Given the description of an element on the screen output the (x, y) to click on. 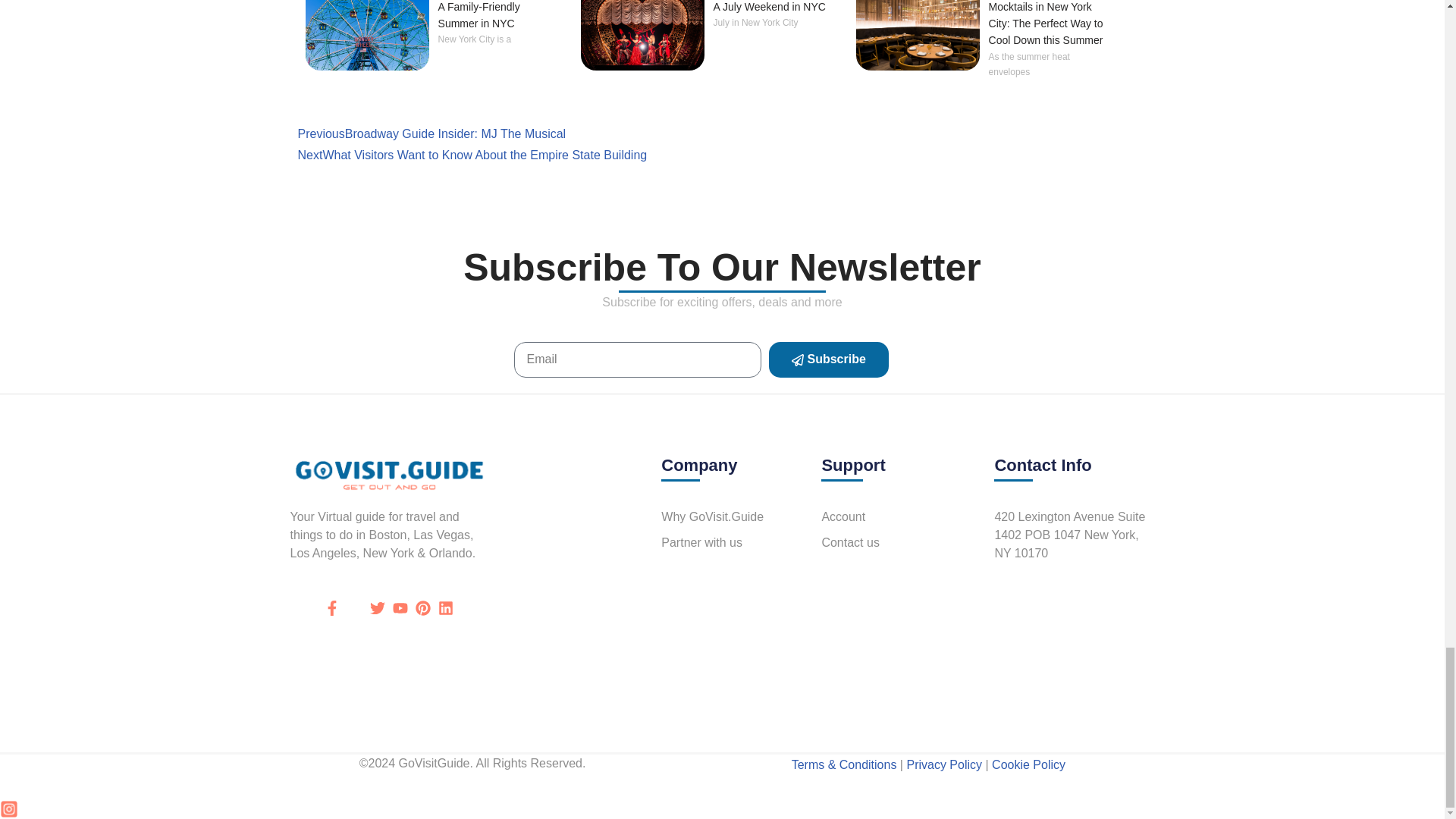
Instagram (8, 807)
